Given the description of an element on the screen output the (x, y) to click on. 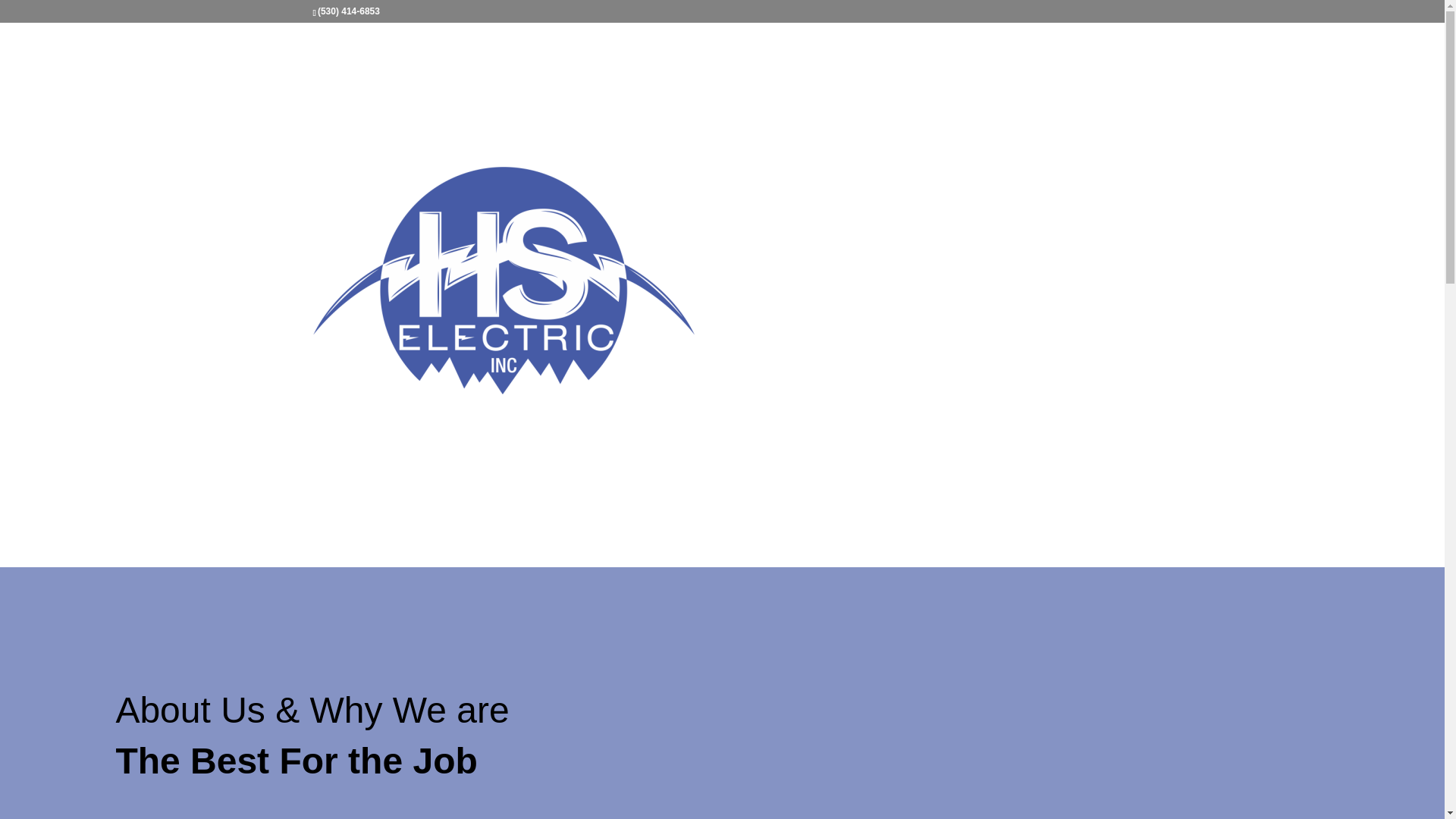
GALLERY (1037, 65)
ABOUT (901, 65)
HOME (847, 65)
SERVICES (965, 65)
CONTACT (1106, 65)
